Given the description of an element on the screen output the (x, y) to click on. 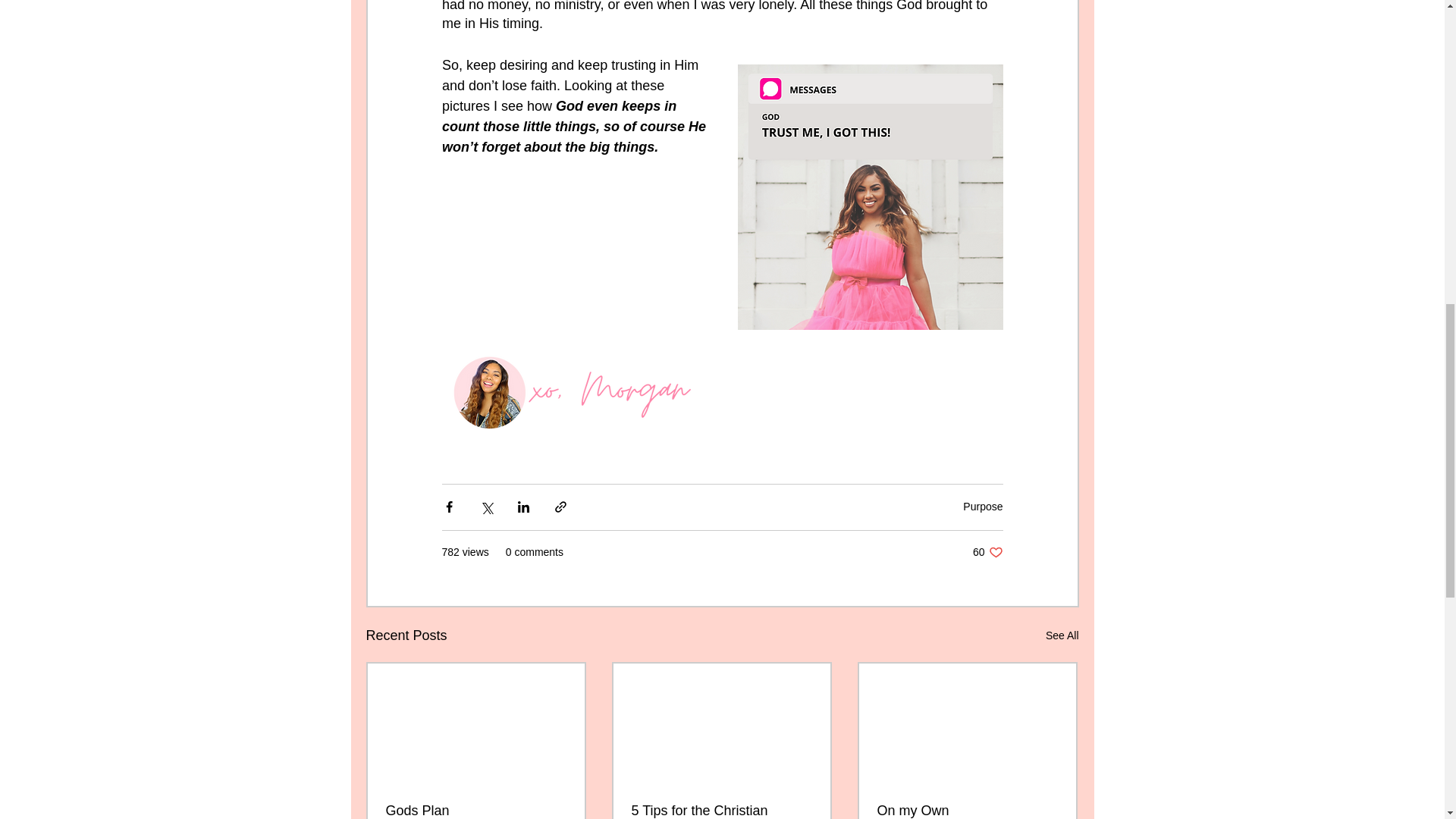
See All (1061, 635)
Gods Plan (475, 811)
Purpose (982, 506)
5 Tips for the Christian Entrepreneur (720, 811)
